Given the description of an element on the screen output the (x, y) to click on. 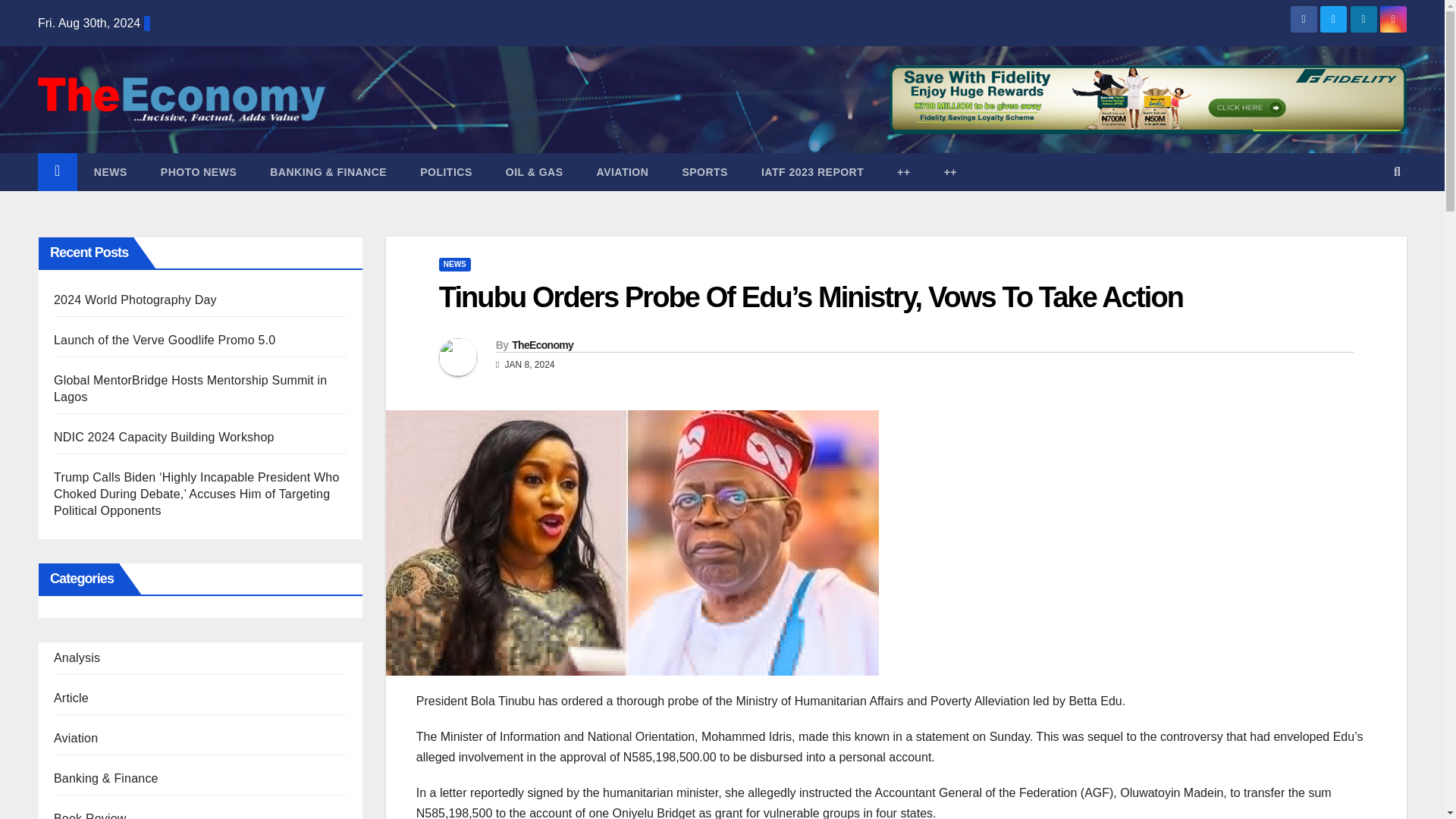
Aviation (622, 171)
Sports (704, 171)
POLITICS (446, 171)
Politics (446, 171)
IATF 2023 REPORT (812, 171)
Photo News (198, 171)
IATF 2023 REPORT (812, 171)
News (110, 171)
SPORTS (704, 171)
NEWS (110, 171)
